Given the description of an element on the screen output the (x, y) to click on. 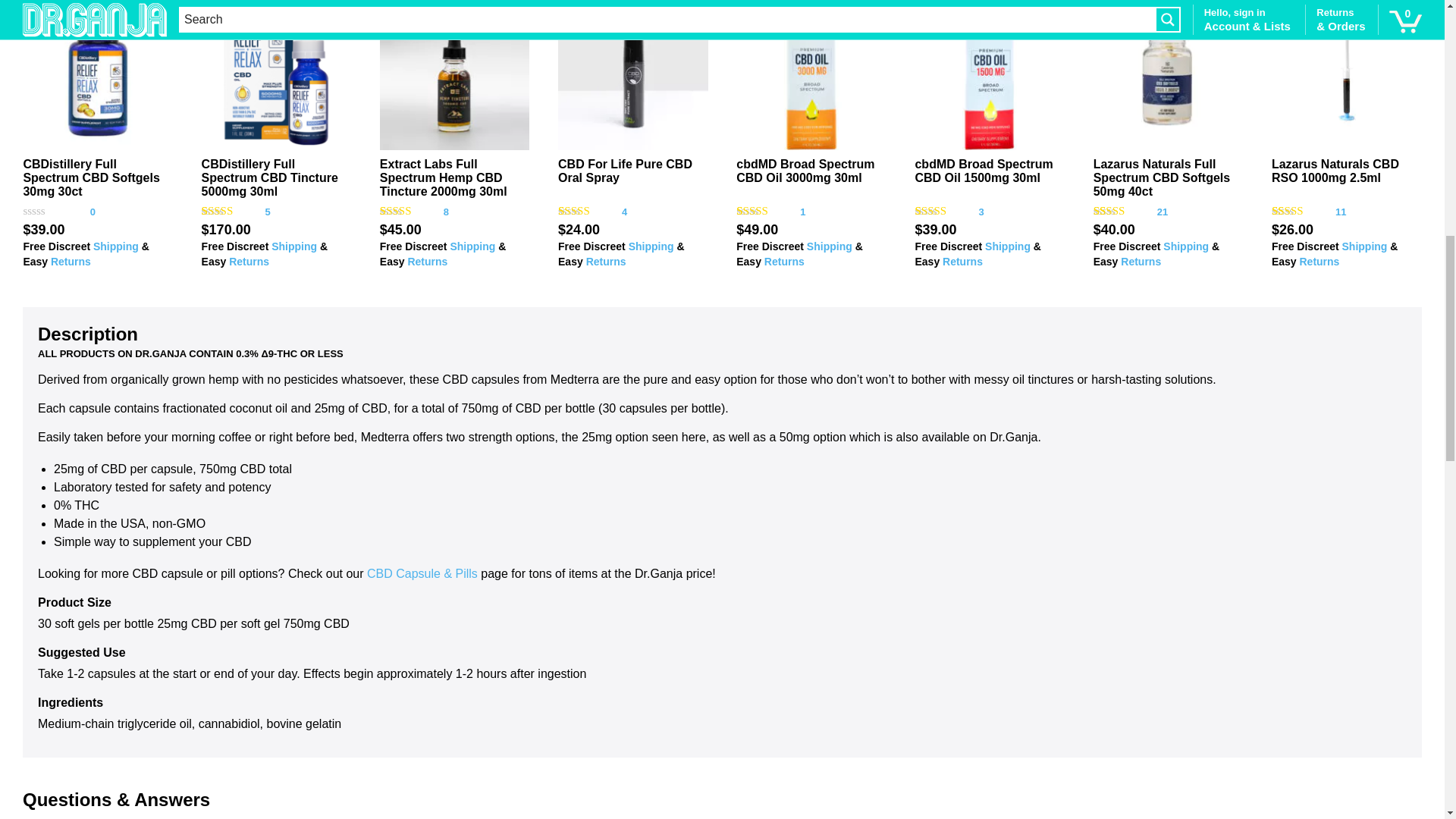
CBDistillery Full Spectrum CBD Tincture 5000mg 30ml (269, 178)
CBDistillery Full Spectrum CBD Softgels 30mg 30ct (98, 74)
Extract Labs Full Spectrum Hemp CBD Tincture 2000mg 30ml (443, 178)
CBDistillery Full Spectrum CBD Softgels 30mg 30ct (90, 178)
CBDistillery Full Spectrum CBD Tincture 5000mg 30ml (277, 74)
Extract Labs Full Spectrum Hemp CBD Tincture 2000mg 30ml (454, 74)
